Given the description of an element on the screen output the (x, y) to click on. 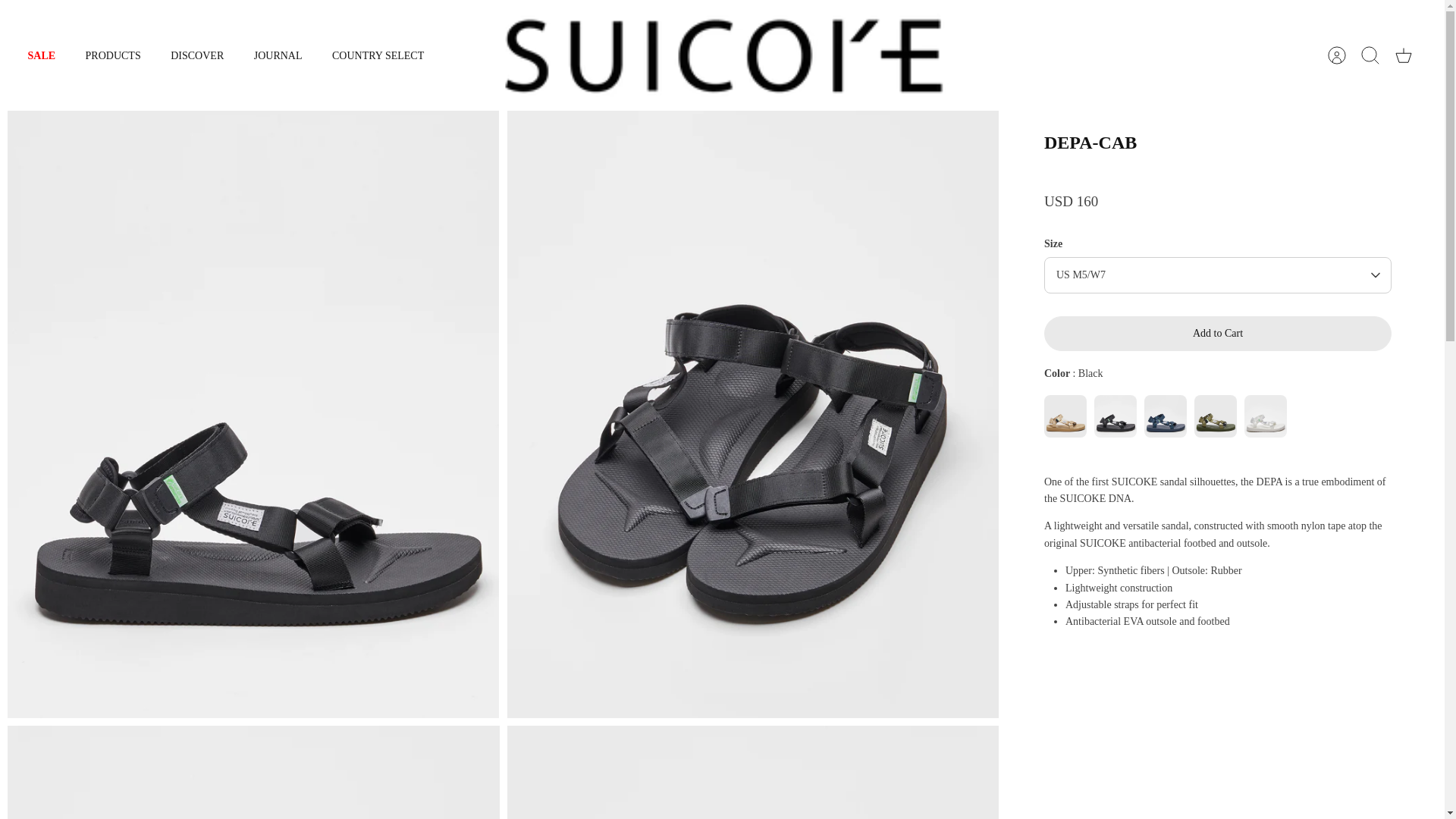
PRODUCTS (112, 55)
JOURNAL (277, 55)
Search (1370, 55)
SUICOKE ASIA (722, 55)
Cart (1404, 55)
SALE (40, 55)
Account (1337, 55)
DISCOVER (197, 55)
COUNTRY SELECT (378, 55)
